Given the description of an element on the screen output the (x, y) to click on. 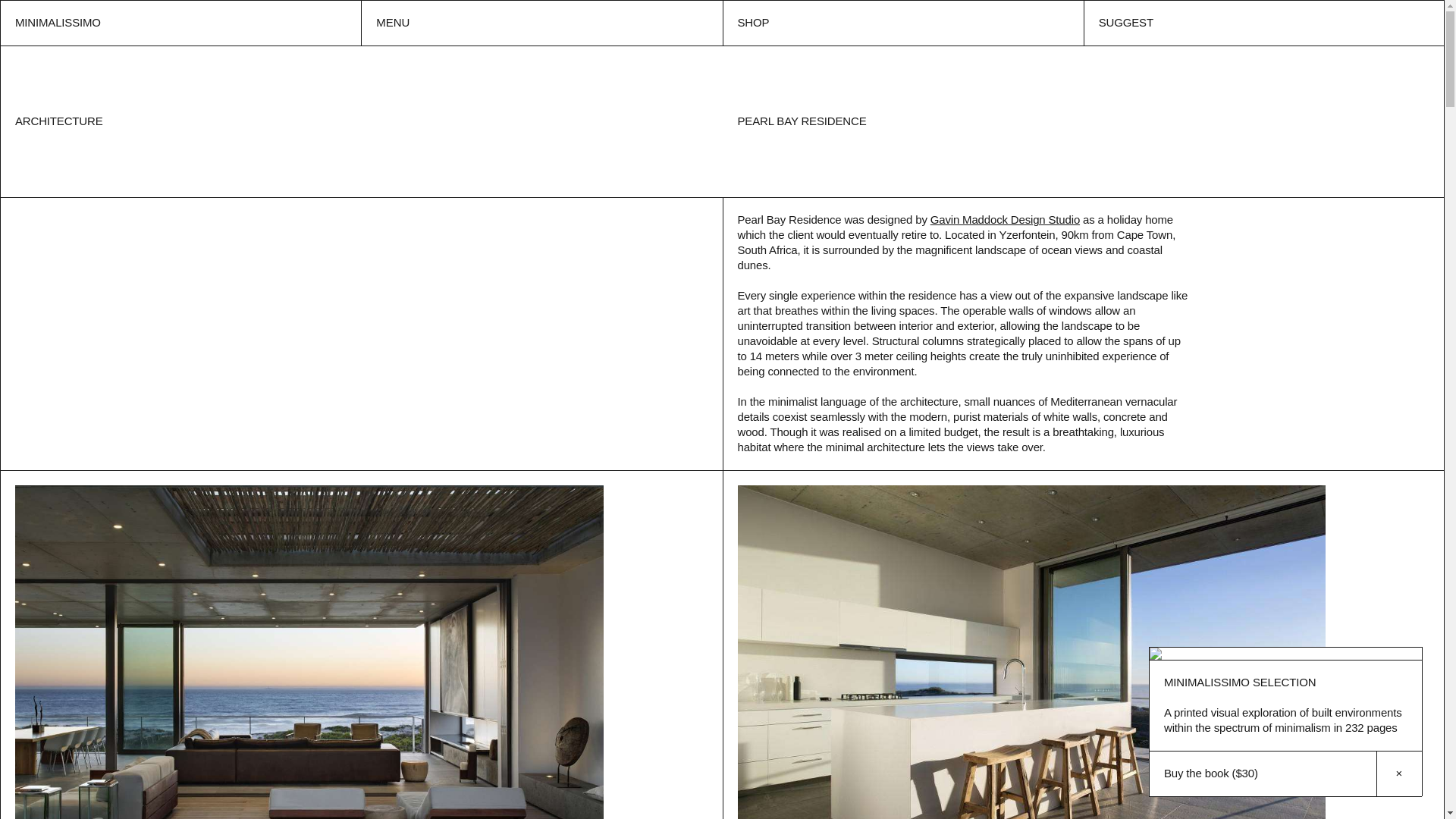
MINIMALISSIMO (180, 22)
ARCHITECTURE (58, 120)
MENU (541, 22)
SHOP (902, 22)
Gavin Maddock Design Studio (1005, 219)
